Given the description of an element on the screen output the (x, y) to click on. 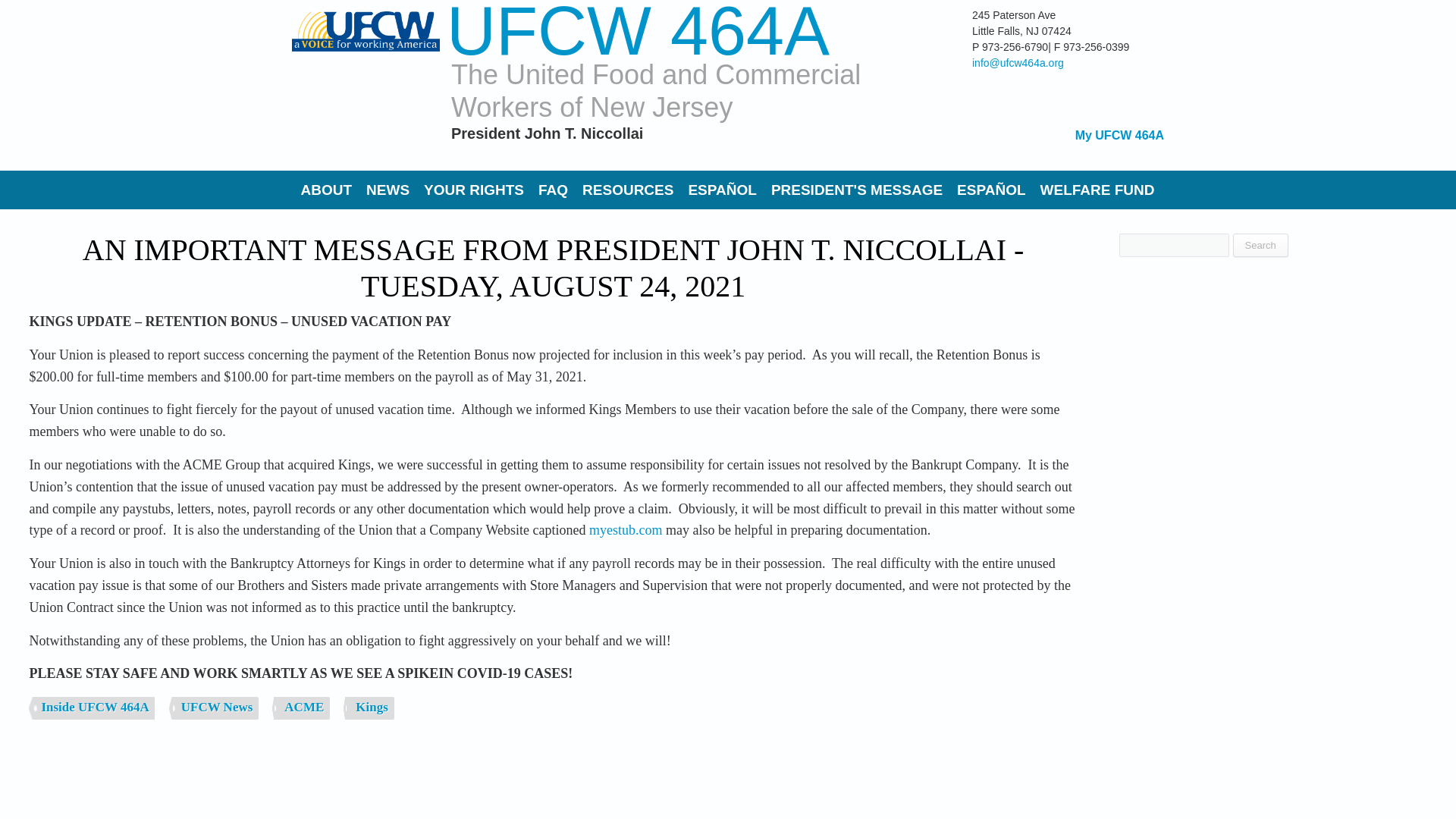
Home (365, 83)
FAQ (553, 189)
RESOURCES (628, 189)
My UFCW 464A (1119, 134)
YOUR RIGHTS (473, 189)
UFCW 464A (637, 31)
Home (637, 31)
ABOUT (326, 189)
Search (1260, 245)
